Given the description of an element on the screen output the (x, y) to click on. 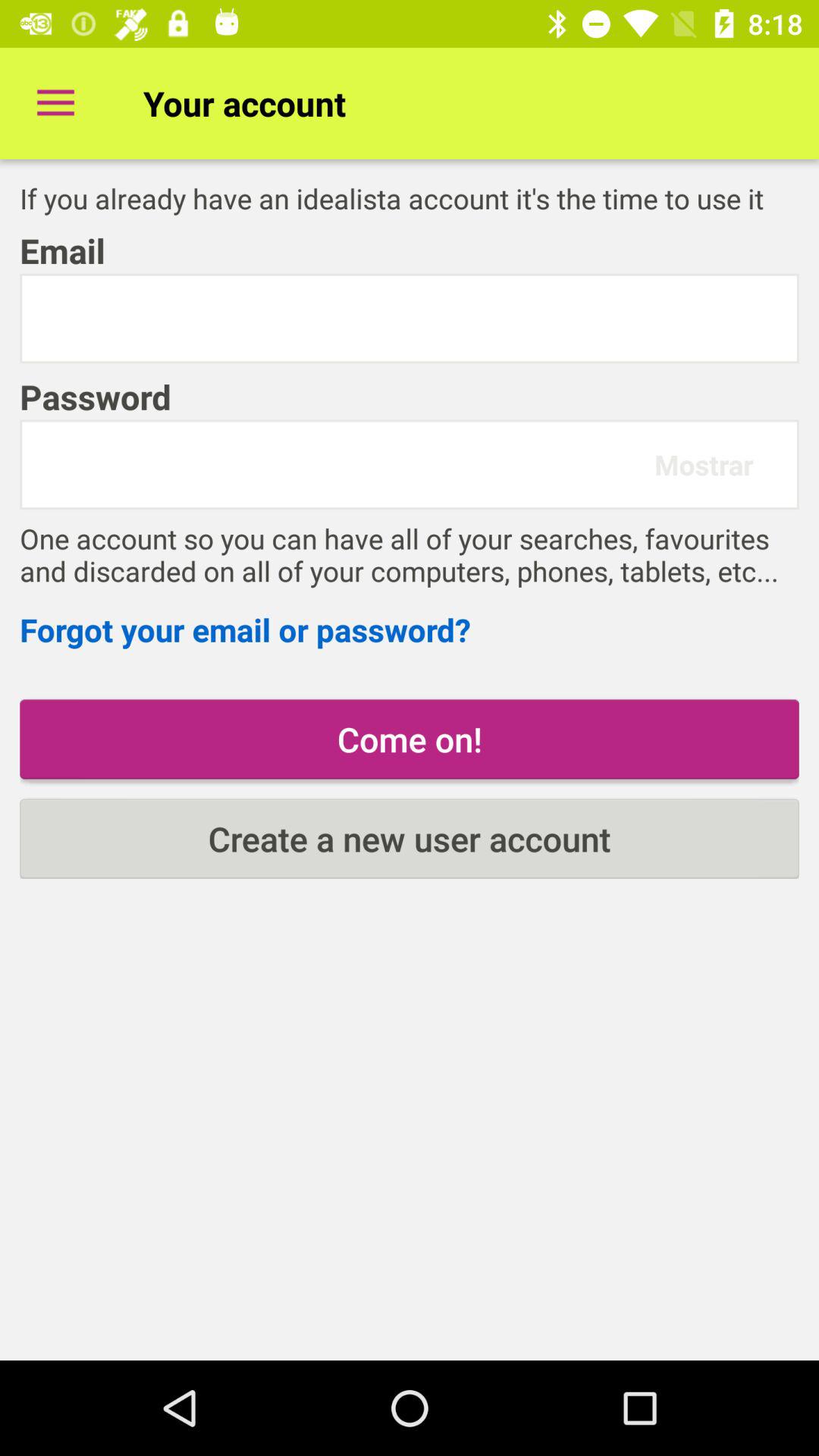
choose item below the password item (343, 464)
